Given the description of an element on the screen output the (x, y) to click on. 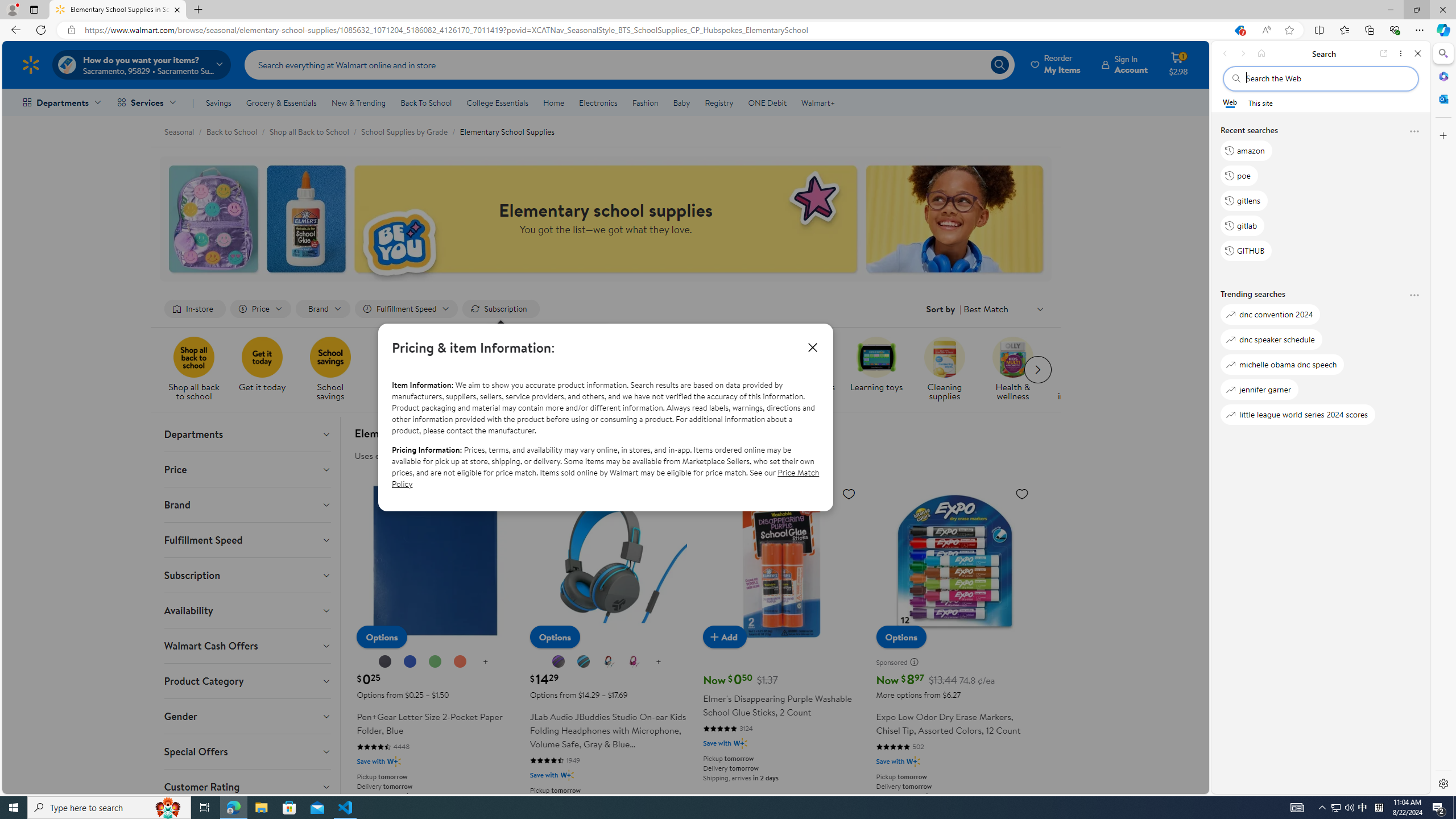
little league world series 2024 scores (1297, 414)
jennifer garner (1259, 389)
Price Match Policy (605, 477)
